Given the description of an element on the screen output the (x, y) to click on. 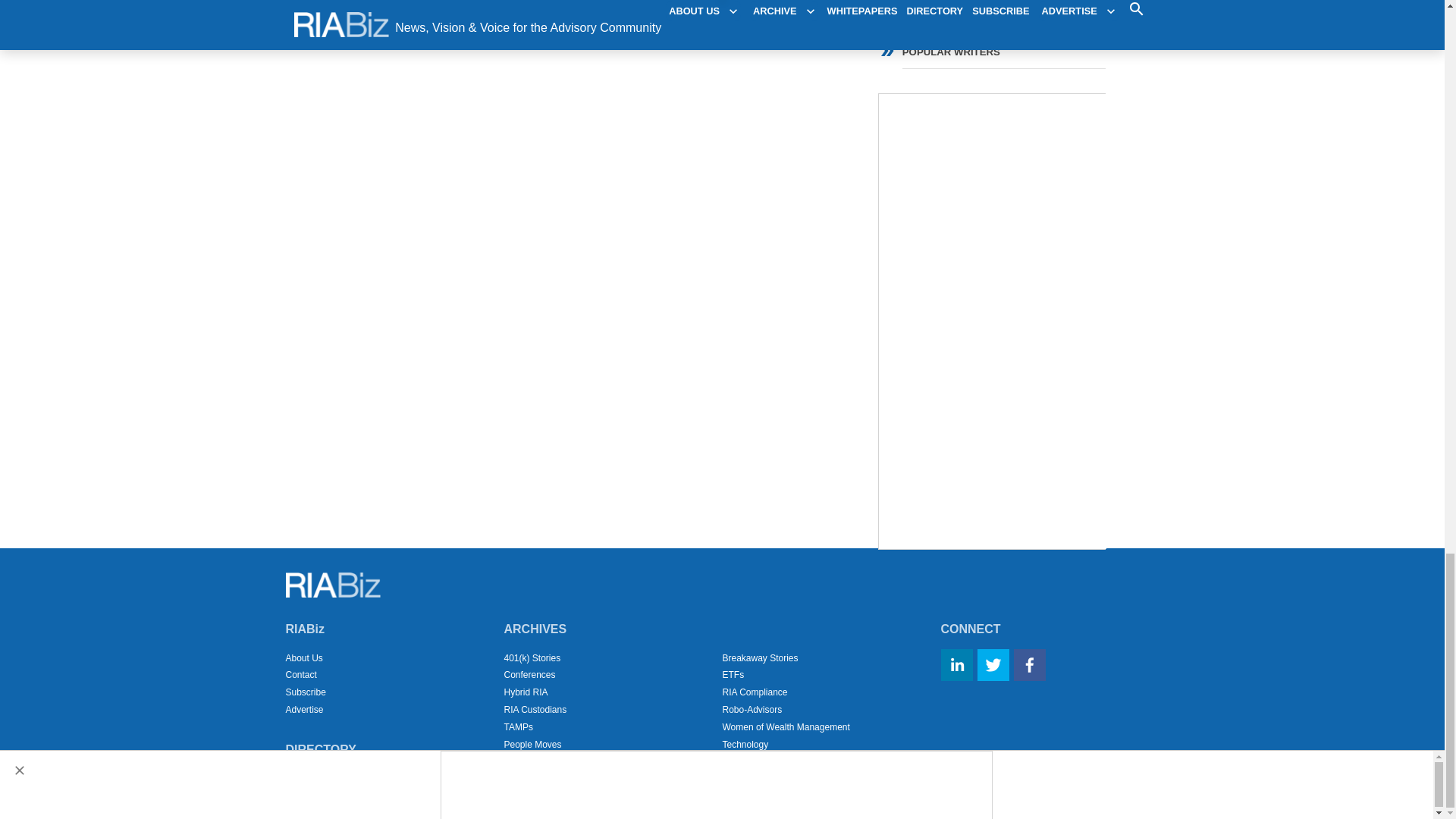
Advertise (304, 709)
ETFs (733, 674)
RIA Compliance (754, 692)
RECENT ARTICLES (991, 18)
Hybrid RIA (525, 692)
About Us (303, 657)
Conferences (528, 674)
COMMON TAGS (991, 2)
DIRECTORY (320, 748)
Subscribe (304, 692)
